Given the description of an element on the screen output the (x, y) to click on. 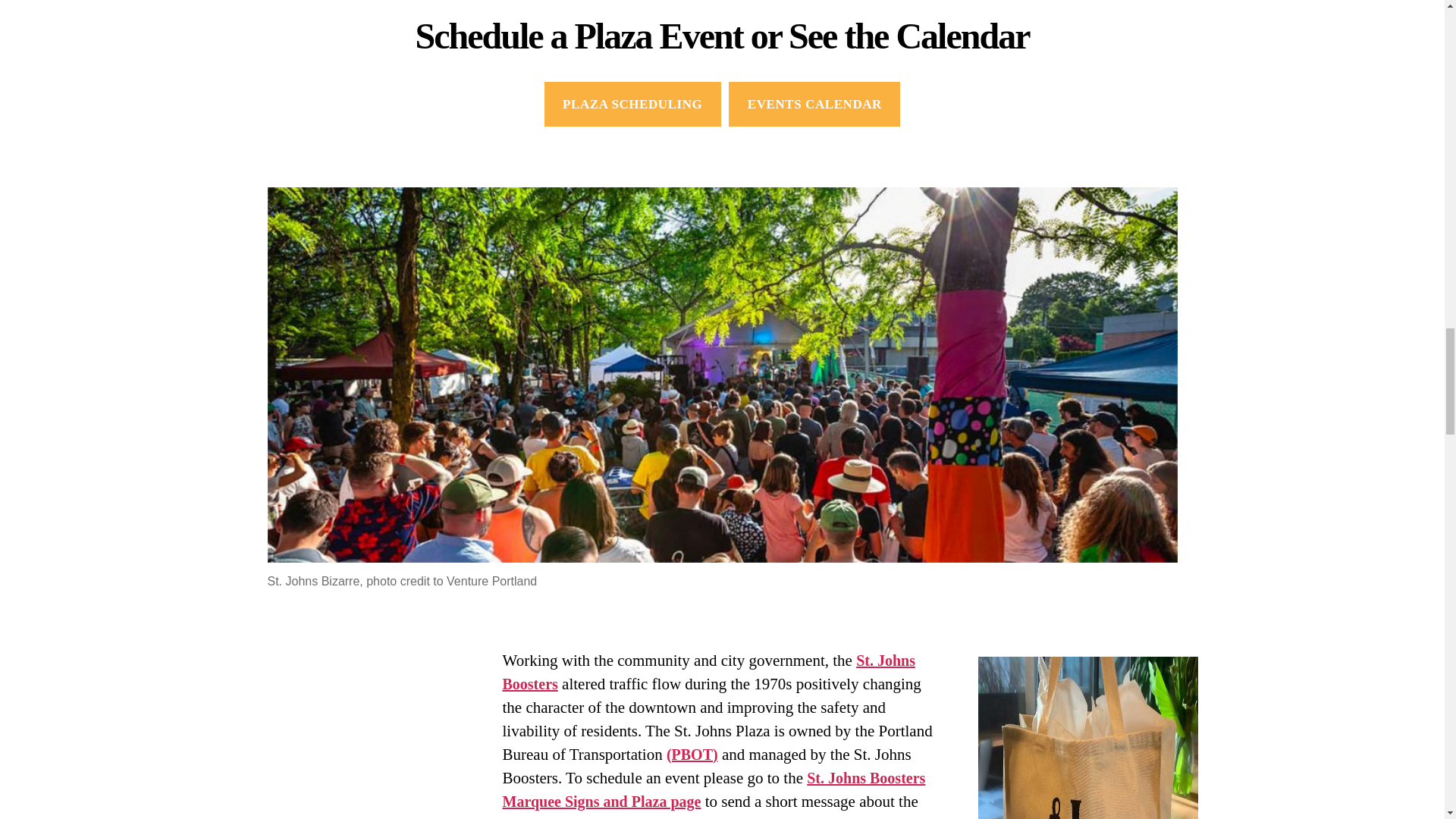
St. Johns Boosters (708, 671)
PLAZA SCHEDULING (632, 103)
St. Johns Boosters Marquee Signs and Plaza page (713, 789)
EVENTS CALENDAR (814, 103)
